Given the description of an element on the screen output the (x, y) to click on. 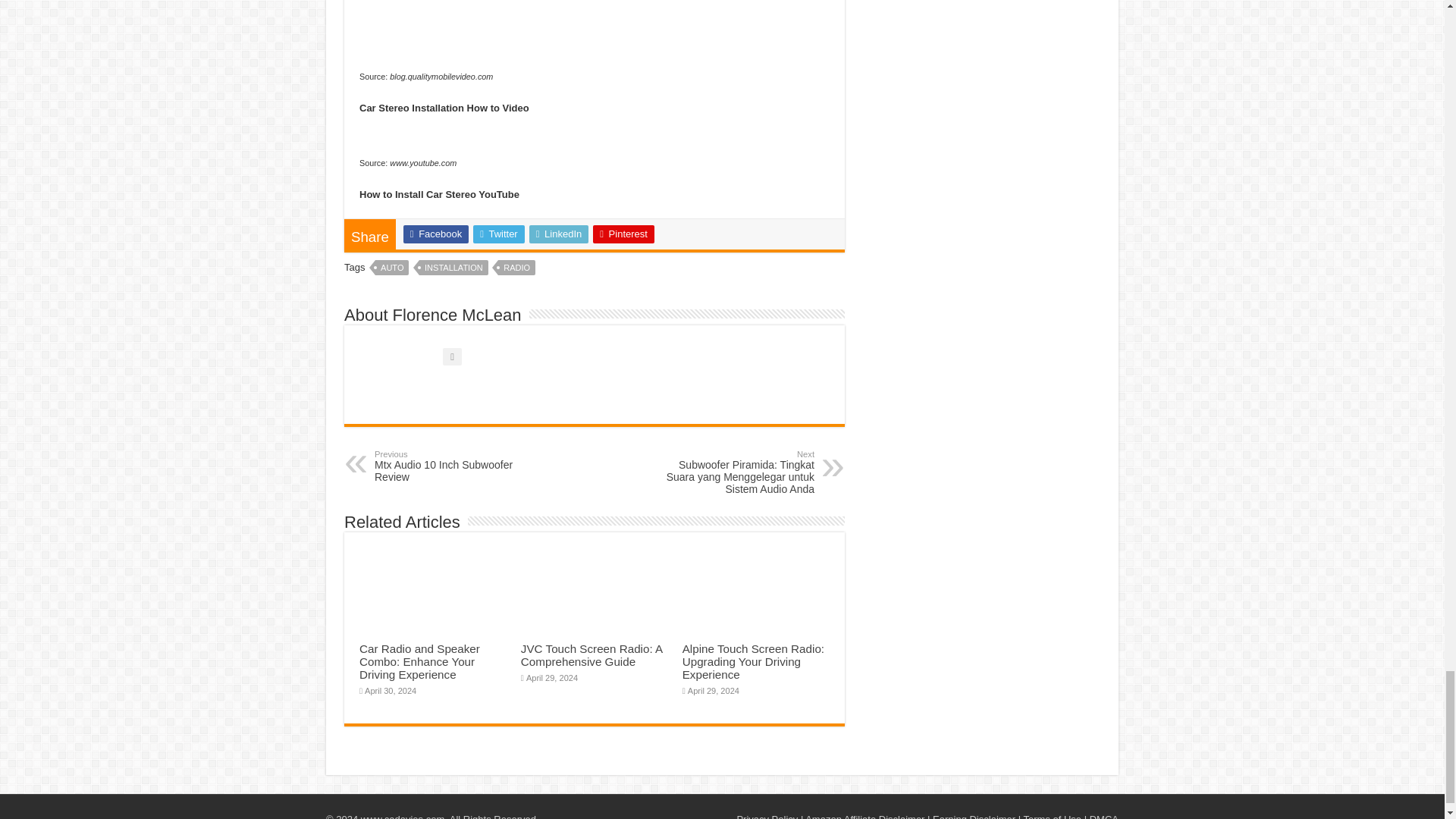
AUTO (392, 267)
Twitter (498, 234)
RADIO (516, 267)
Alpine Touch Screen Radio: Upgrading Your Driving Experience (753, 661)
JVC Touch Screen Radio: A Comprehensive Guide (591, 655)
LinkedIn (559, 234)
Facebook (435, 234)
INSTALLATION (451, 466)
Pinterest (453, 267)
Car Radio and Speaker Combo: Enhance Your Driving Experience (622, 234)
